Given the description of an element on the screen output the (x, y) to click on. 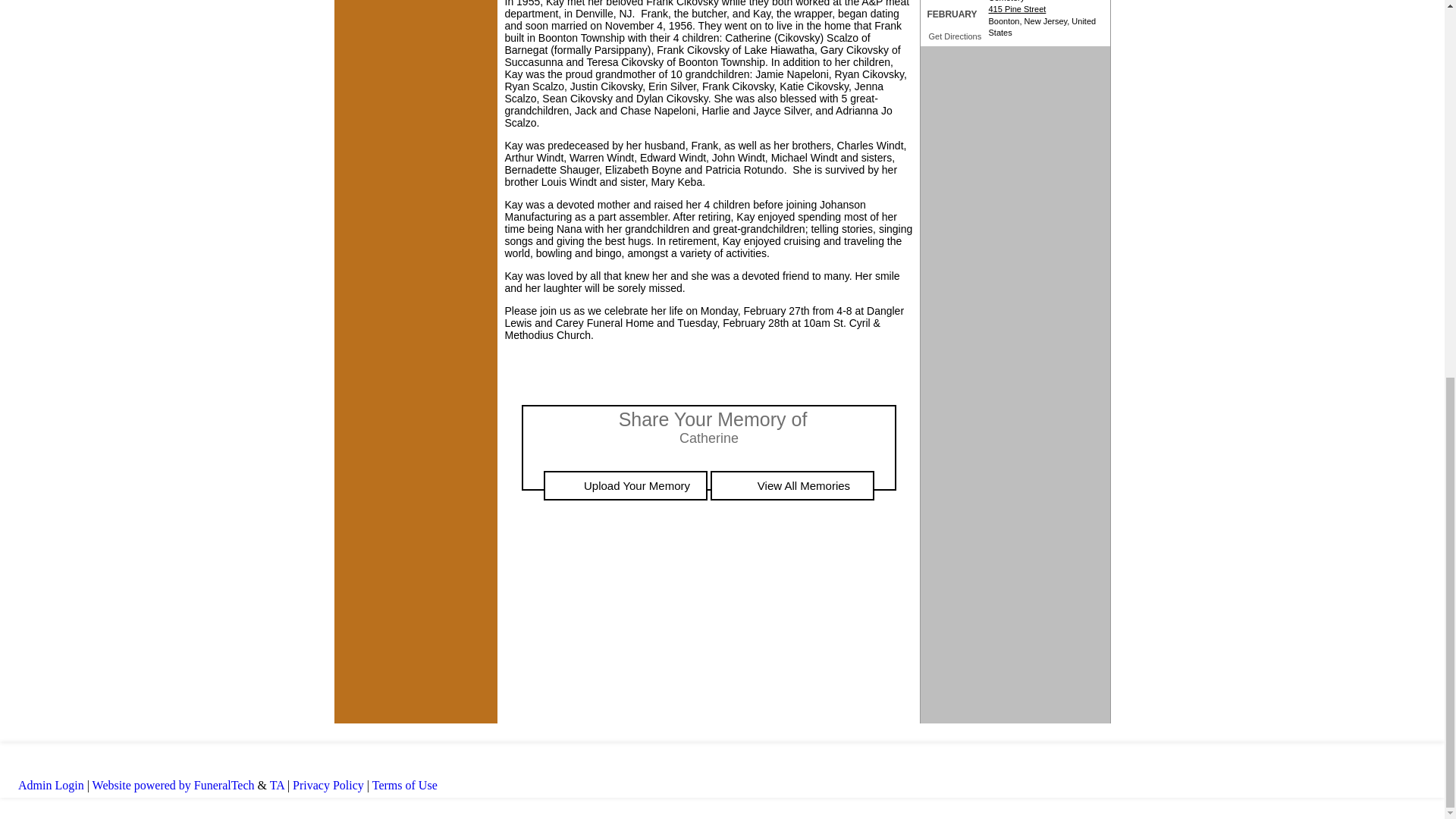
Upload Your Memory (625, 485)
Admin Login (50, 784)
Terms of Use (405, 784)
Website powered by FuneralTech (173, 784)
View All Memories (792, 485)
TA (276, 784)
Get Directions (954, 35)
Privacy Policy (328, 784)
